Given the description of an element on the screen output the (x, y) to click on. 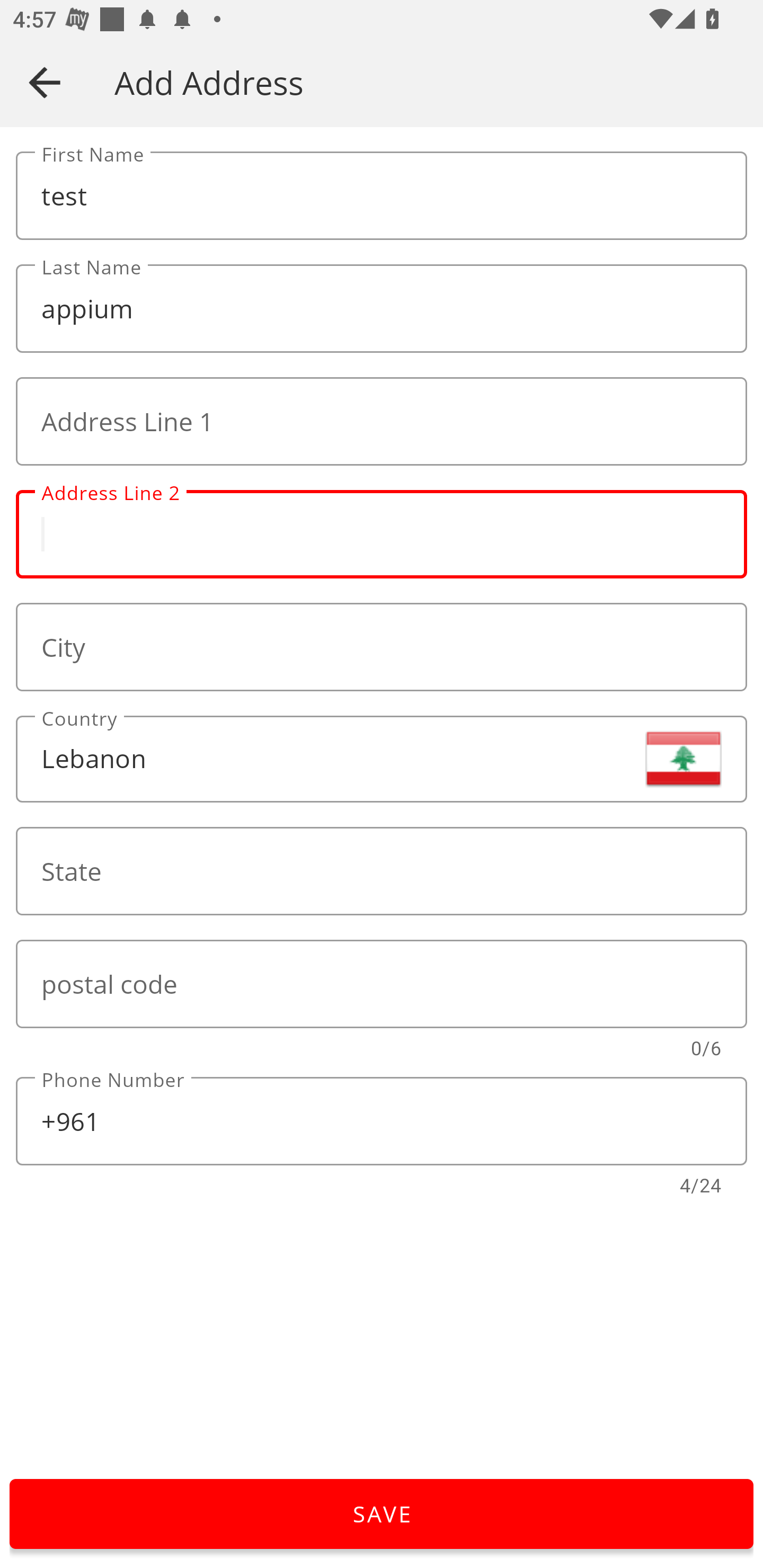
Navigate up (44, 82)
test (381, 195)
appium (381, 308)
Address Line 1 (381, 421)
Address Line 2 (381, 533)
City (381, 646)
Lebanon (381, 758)
State (381, 870)
postal code (381, 983)
+961 (381, 1121)
SAVE (381, 1513)
